Given the description of an element on the screen output the (x, y) to click on. 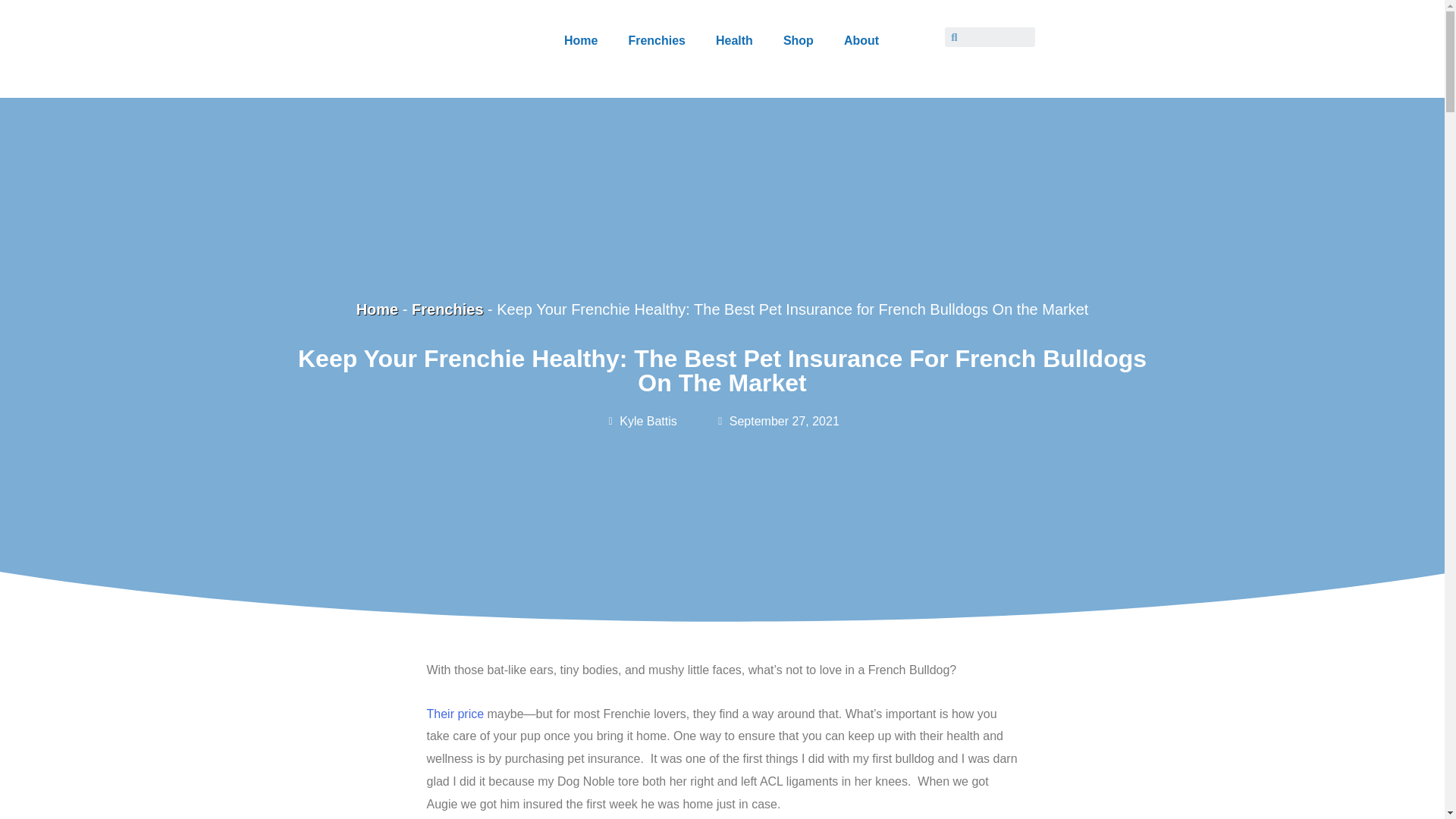
Shop (798, 40)
Frenchies (447, 309)
Search (994, 36)
Frenchies (656, 40)
About (860, 40)
Kyle Battis (641, 421)
Home (580, 40)
Their price (454, 713)
Home (377, 309)
Health (734, 40)
